Given the description of an element on the screen output the (x, y) to click on. 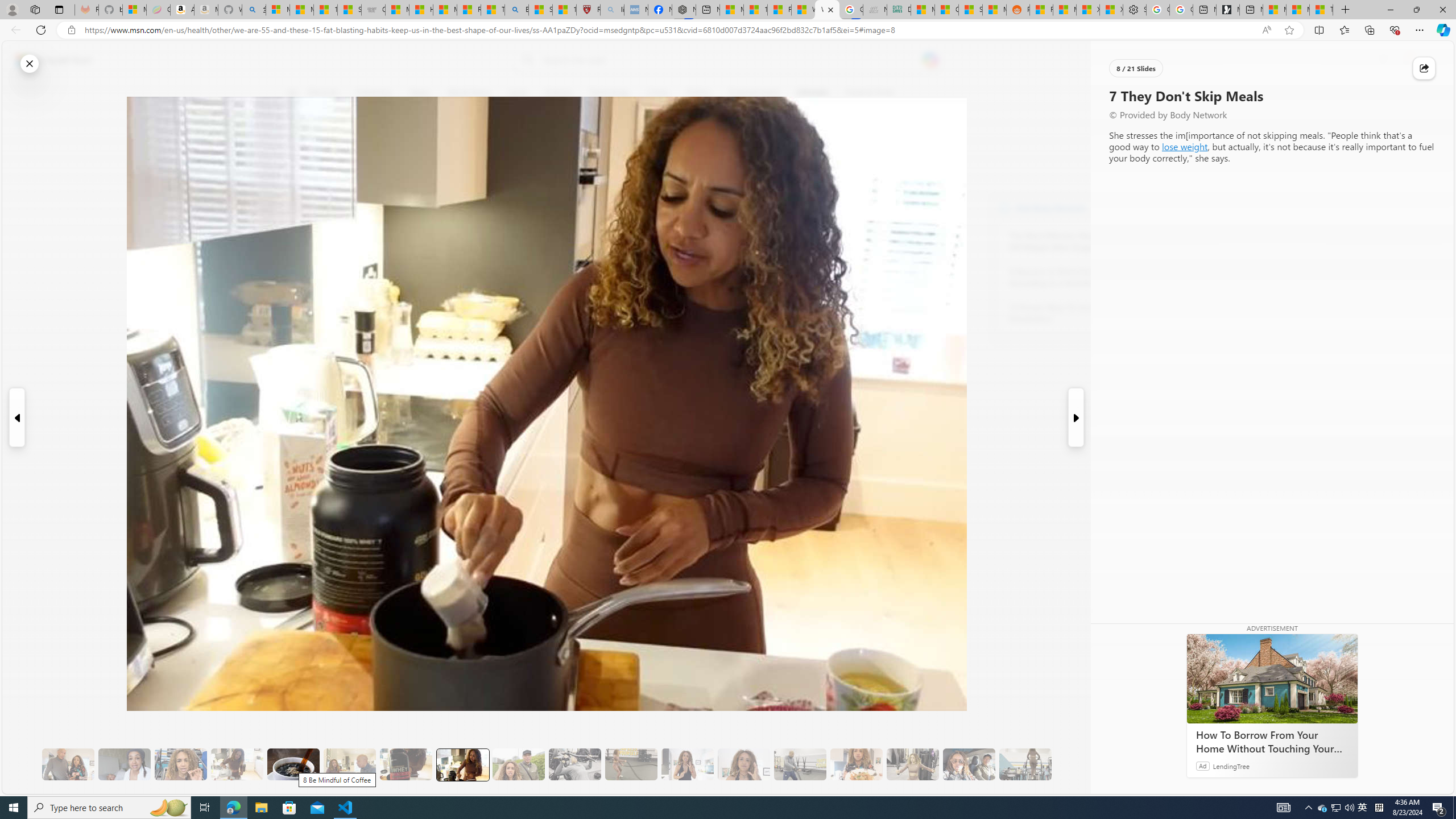
Add this page to favorites (Ctrl+D) (1289, 29)
7 They Don't Skip Meals (462, 764)
8 Be Mindful of Coffee (293, 764)
MSNBC - MSN (922, 9)
10 Then, They Do HIIT Cardio (631, 764)
These 3 Stocks Pay You More Than 5% to Own Them (1321, 9)
Copilot (Ctrl+Shift+.) (1442, 29)
Local (517, 92)
World News (468, 92)
Class: at-item (299, 266)
Previous Slide (16, 417)
10 Then, They Do HIIT Cardio (631, 764)
8 Be Mindful of Coffee (293, 764)
Back (13, 29)
Share this story (1423, 67)
